Given the description of an element on the screen output the (x, y) to click on. 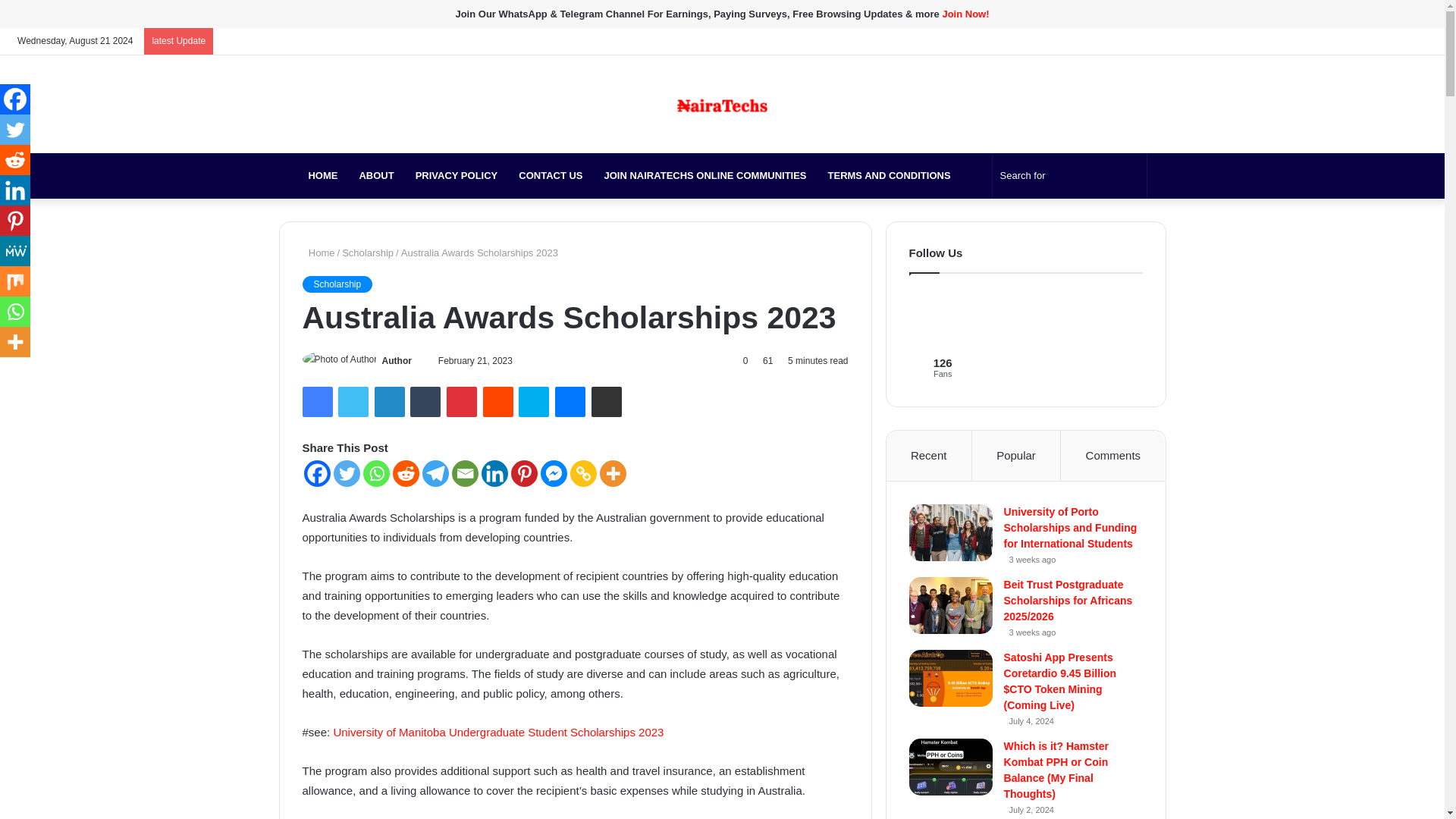
Scholarship (367, 252)
Reddit (498, 401)
PRIVACY POLICY (456, 176)
NairaTechs (721, 103)
LinkedIn (389, 401)
Join Now! (965, 13)
TERMS AND CONDITIONS (888, 176)
ABOUT (375, 176)
Author (396, 360)
HOME (322, 176)
